Given the description of an element on the screen output the (x, y) to click on. 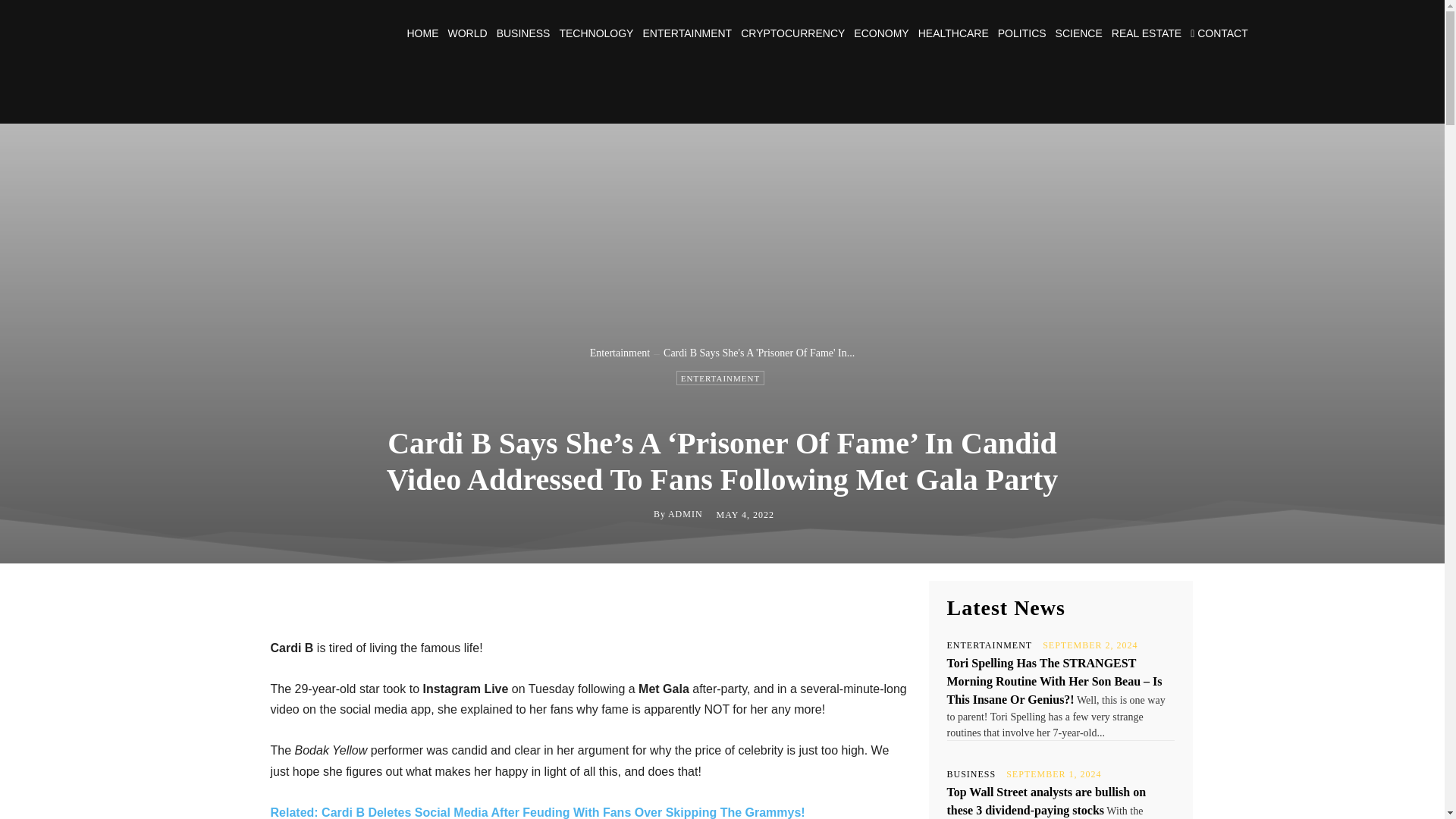
Entertainment (619, 352)
WORLD (466, 33)
BUSINESS (523, 33)
CONTACT (1219, 33)
POLITICS (1021, 33)
ENTERTAINMENT (720, 377)
ENTERTAINMENT (687, 33)
ADMIN (685, 513)
TECHNOLOGY (596, 33)
